Given the description of an element on the screen output the (x, y) to click on. 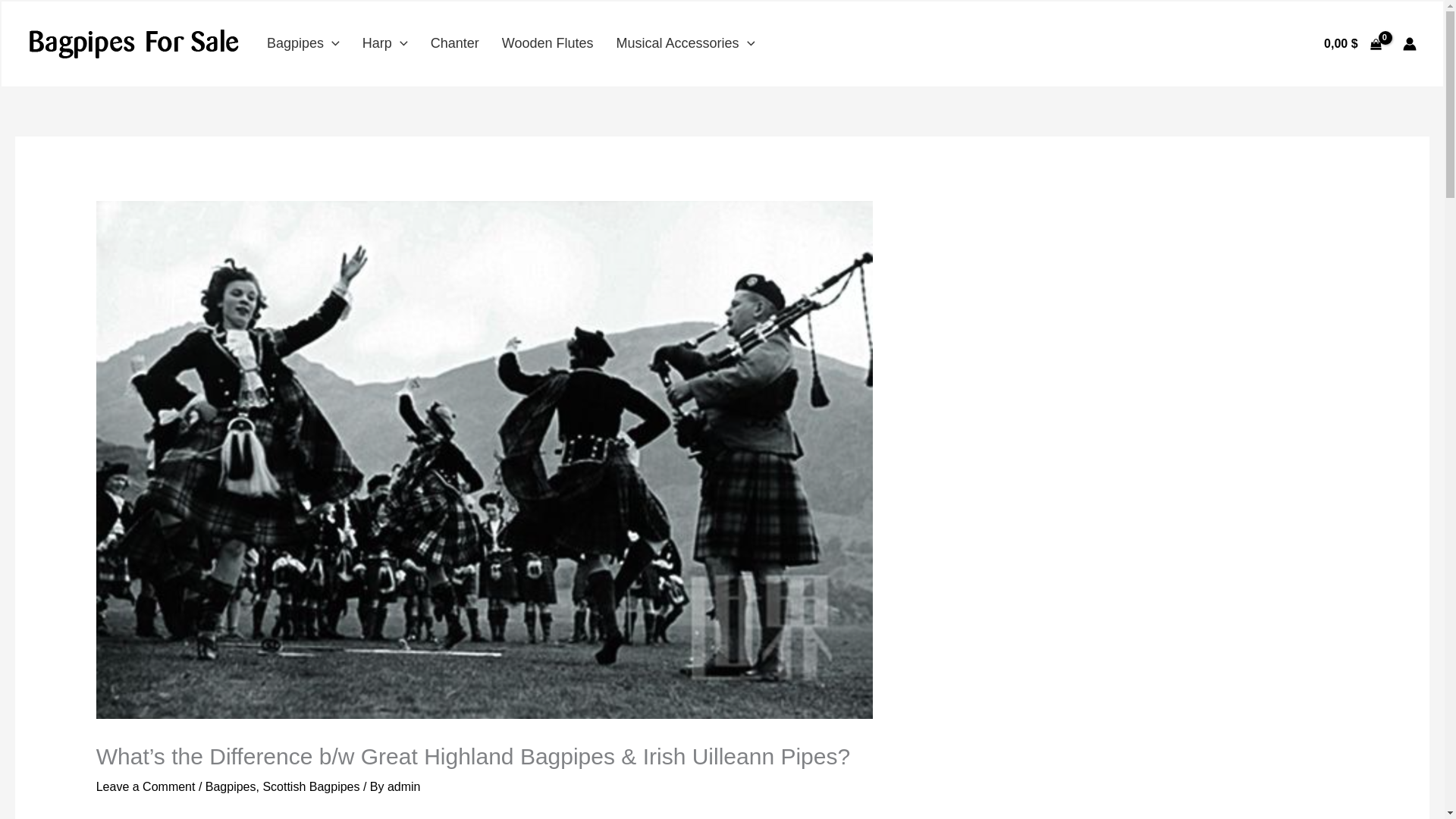
Bagpipes (230, 786)
admin (403, 786)
Wooden Flutes (548, 43)
Musical Accessories (684, 43)
Leave a Comment (145, 786)
View all posts by admin (403, 786)
Chanter (454, 43)
Harp (384, 43)
Bagpipes (303, 43)
Scottish Bagpipes (310, 786)
